Given the description of an element on the screen output the (x, y) to click on. 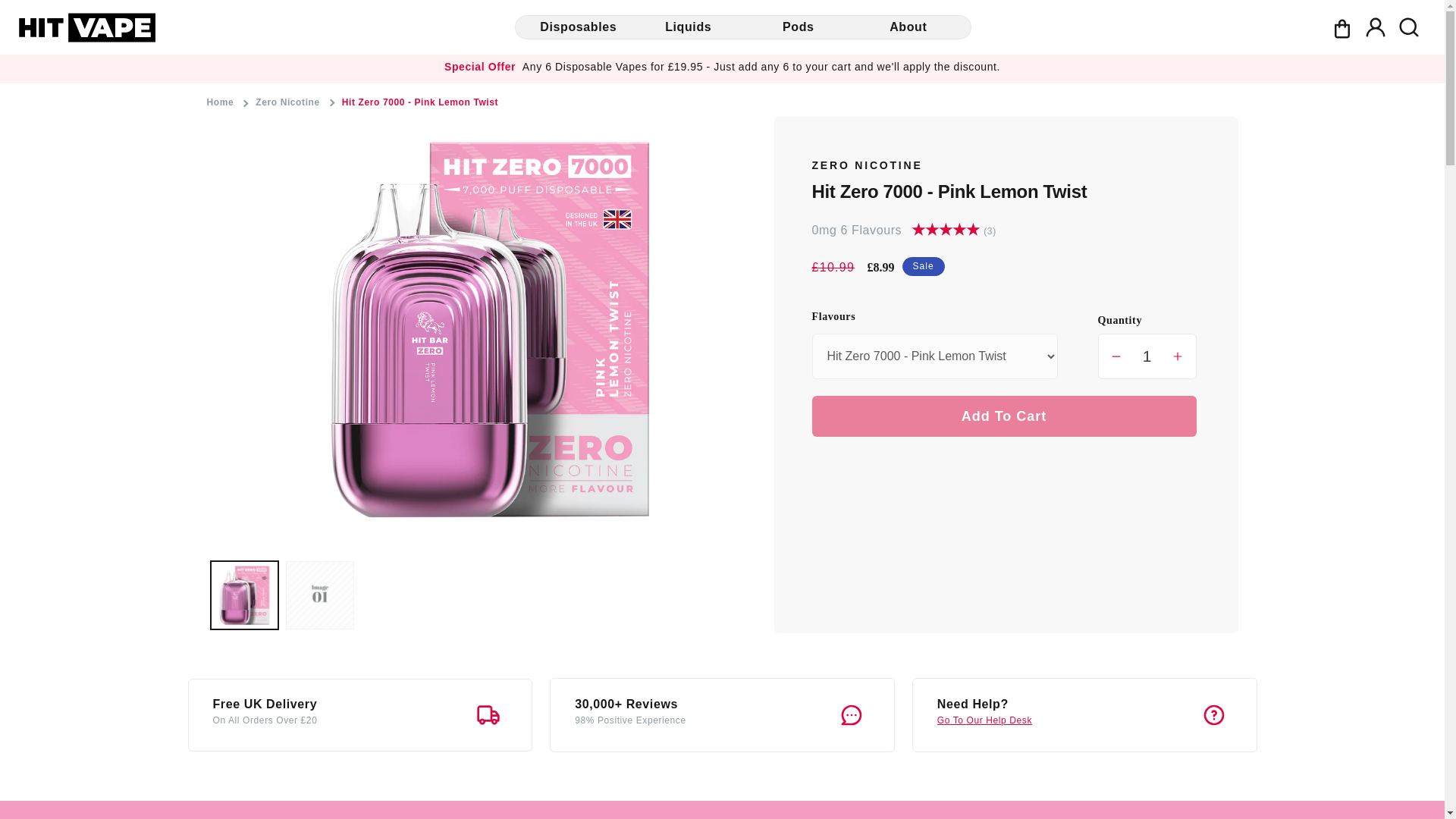
Skip to product information (252, 133)
Liquids (687, 26)
ZERO NICOTINE (865, 164)
Cart (1341, 27)
Home (223, 102)
Pods (797, 26)
Increase quantity for Hit Zero 7000 - Pink Lemon Twist (1176, 356)
Decrease quantity for Hit Zero 7000 - Pink Lemon Twist (1116, 356)
About (907, 26)
Disposables (577, 26)
